Given the description of an element on the screen output the (x, y) to click on. 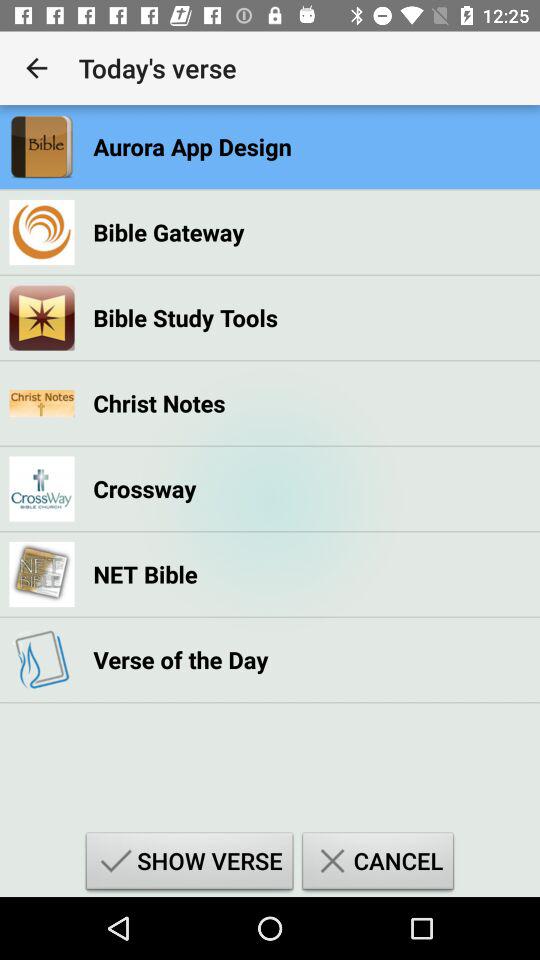
jump to christ notes item (159, 403)
